Given the description of an element on the screen output the (x, y) to click on. 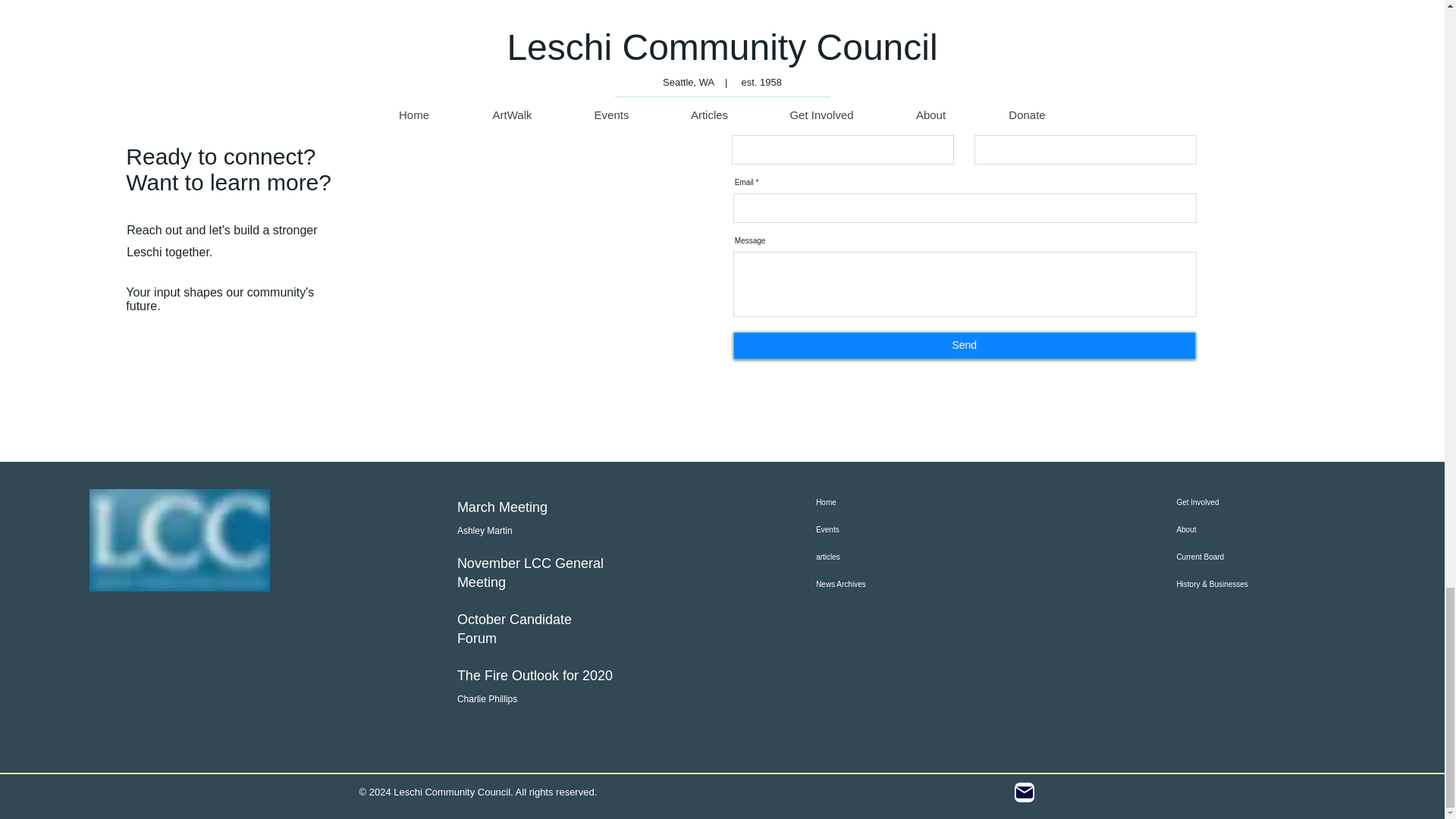
people (825, 2)
Site Search (179, 634)
Ashley Martin (484, 530)
Charlie Phillips (486, 698)
